Given the description of an element on the screen output the (x, y) to click on. 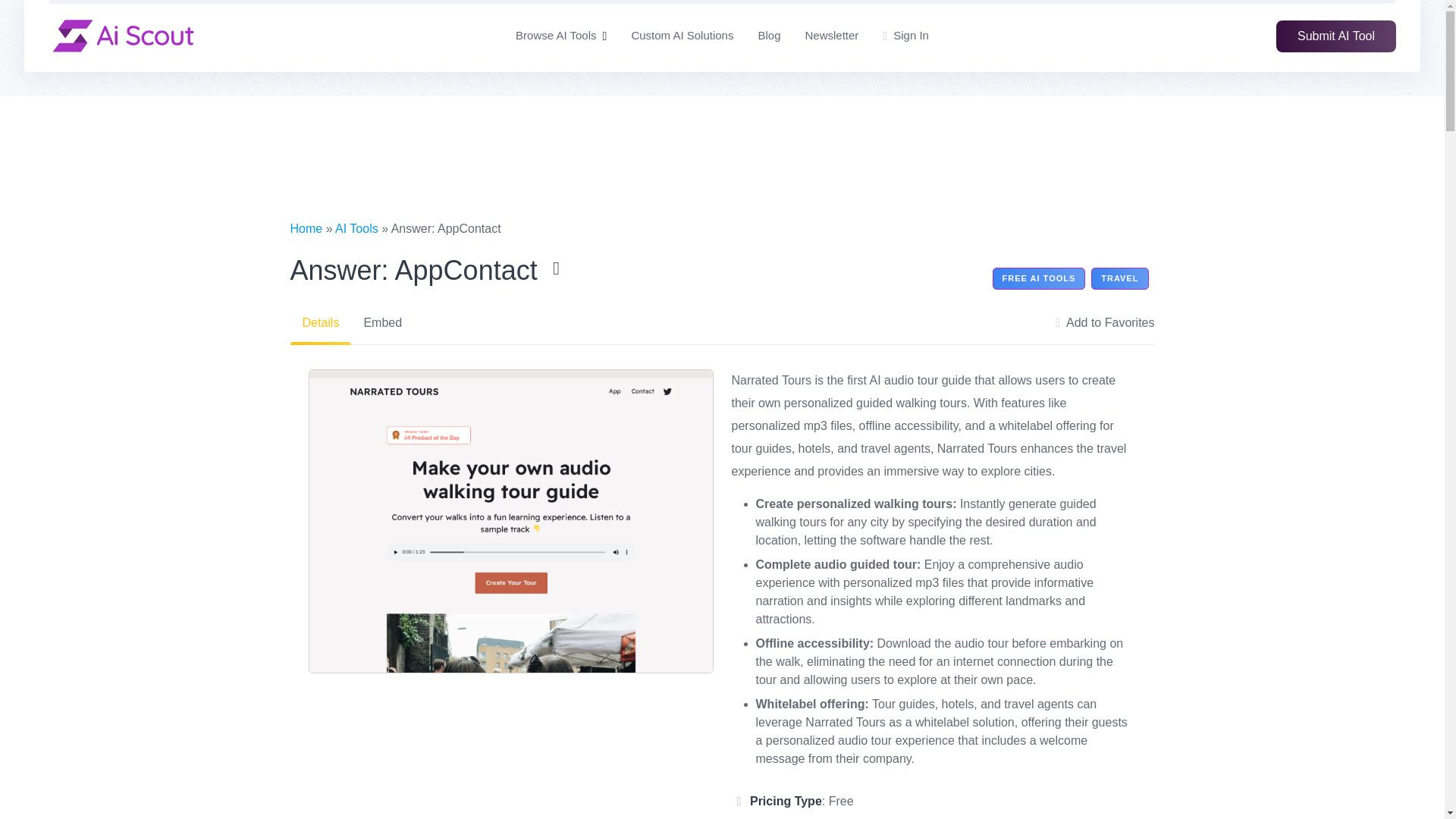
TRAVEL (1119, 278)
Newsletter (832, 36)
FREE AI TOOLS (1039, 278)
Details (320, 322)
Blog (768, 36)
Custom AI Solutions (681, 36)
Browse AI Tools (555, 36)
AI Tools (356, 228)
Home (305, 228)
Embed (381, 322)
Submit AI Tool (1336, 35)
Sign In (905, 36)
Answer: AppContact (428, 270)
Add to Favorites (1104, 322)
